Given the description of an element on the screen output the (x, y) to click on. 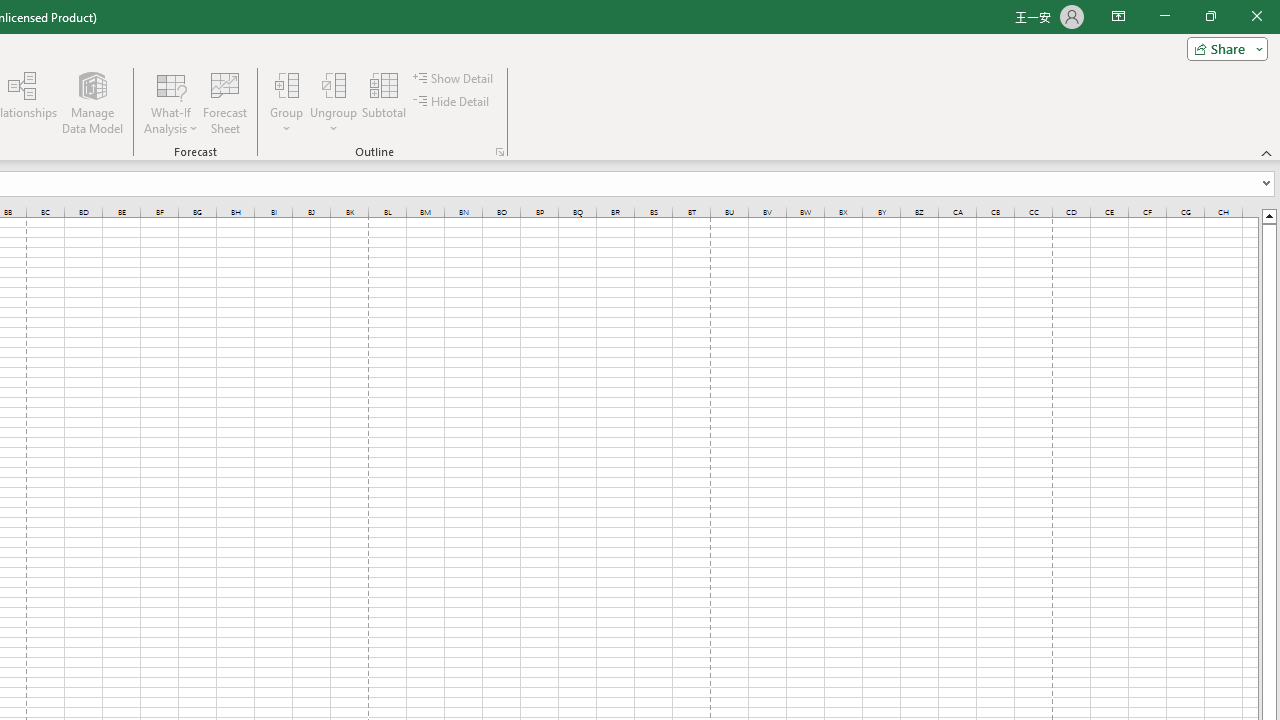
Manage Data Model (92, 102)
What-If Analysis (171, 102)
